Given the description of an element on the screen output the (x, y) to click on. 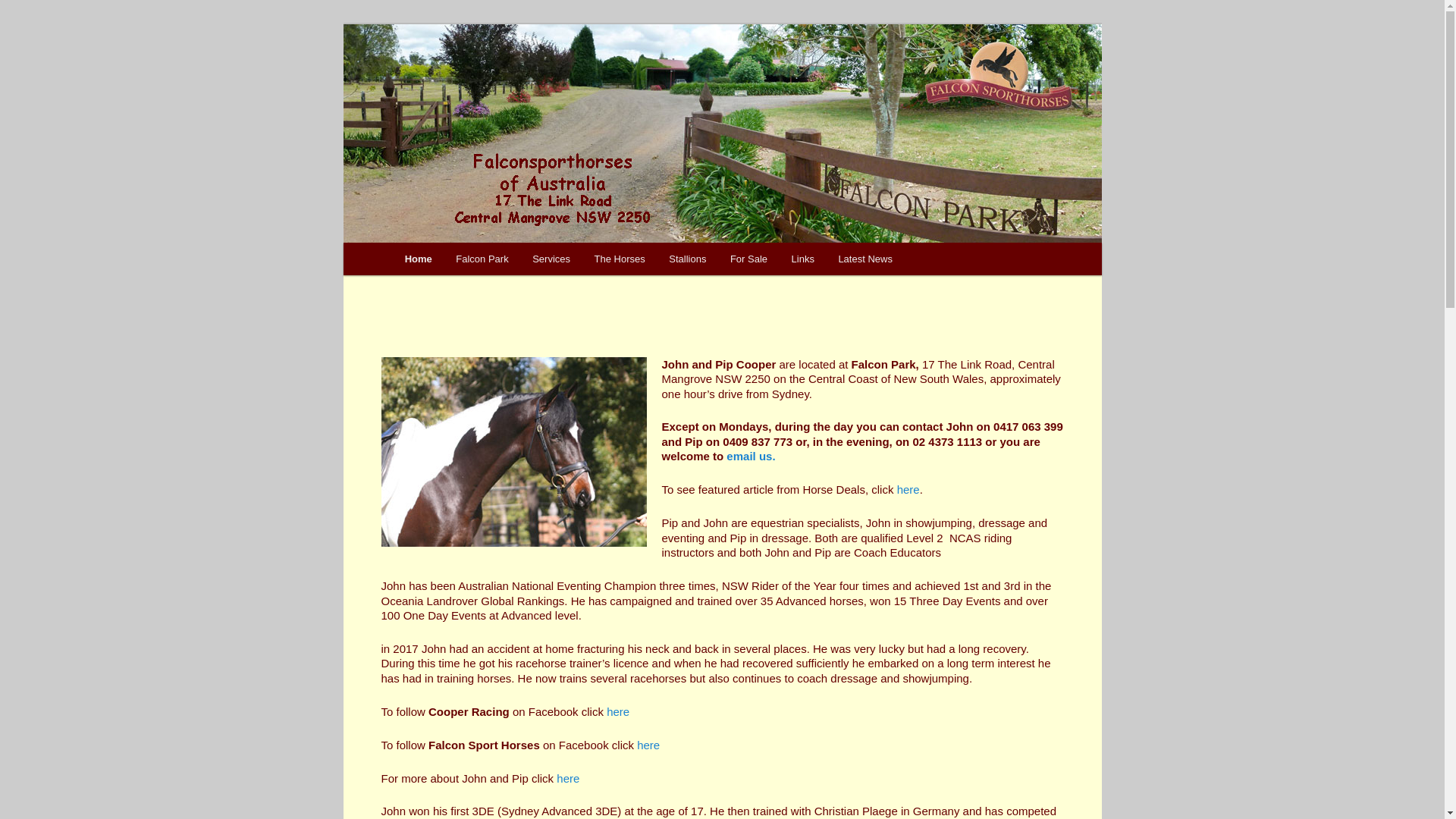
Falcon Park Element type: text (482, 258)
email us. Element type: text (750, 455)
Latest News Element type: text (865, 258)
here Element type: text (567, 777)
Stallions Element type: text (687, 258)
Services Element type: text (550, 258)
For Sale Element type: text (748, 258)
Home Element type: text (418, 258)
Links Element type: text (802, 258)
Skip to primary content Element type: text (414, 242)
here Element type: text (648, 744)
here Element type: text (617, 711)
The Horses Element type: text (619, 258)
here Element type: text (908, 489)
